Given the description of an element on the screen output the (x, y) to click on. 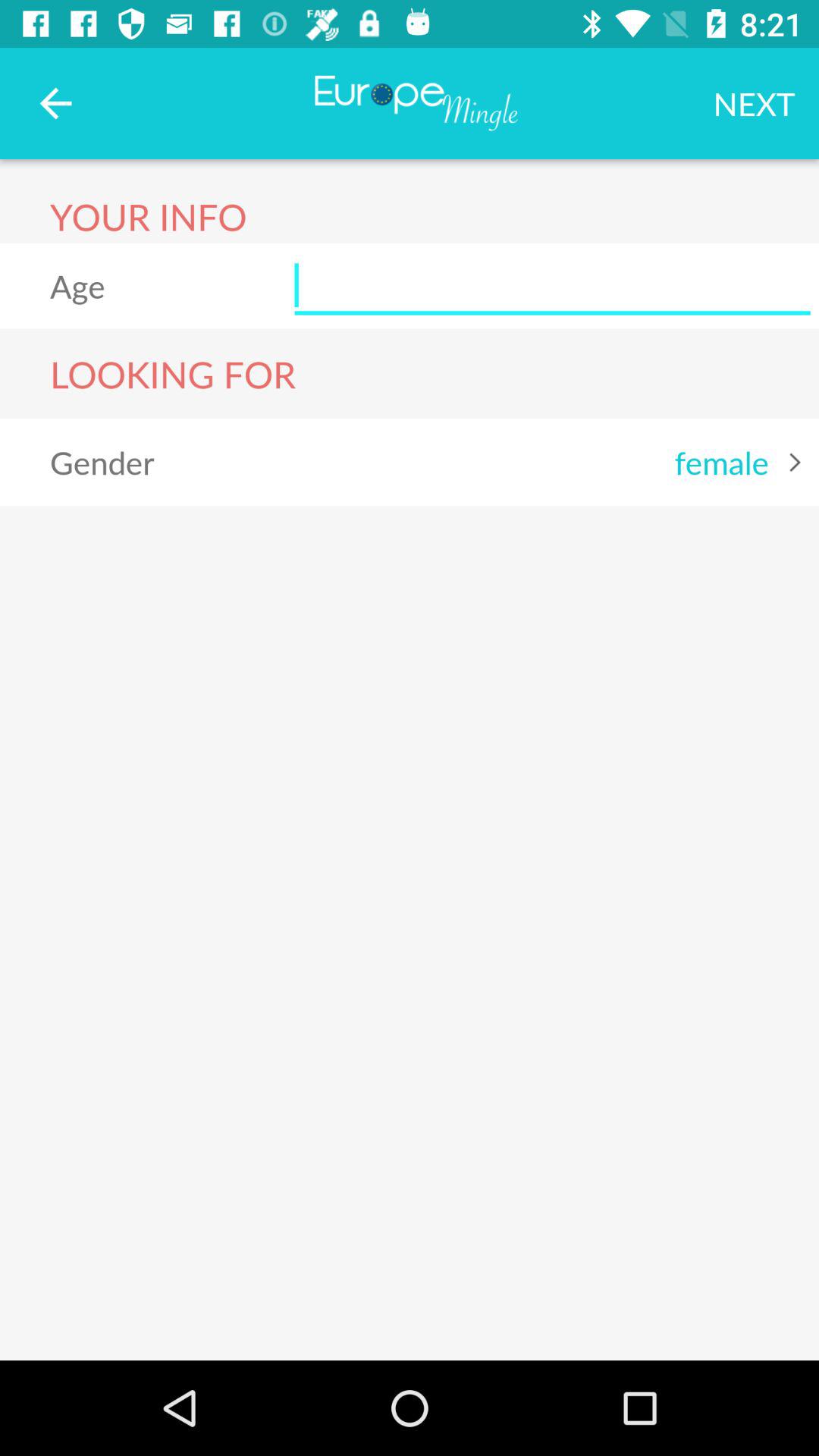
turn off the item next to the age item (552, 285)
